Given the description of an element on the screen output the (x, y) to click on. 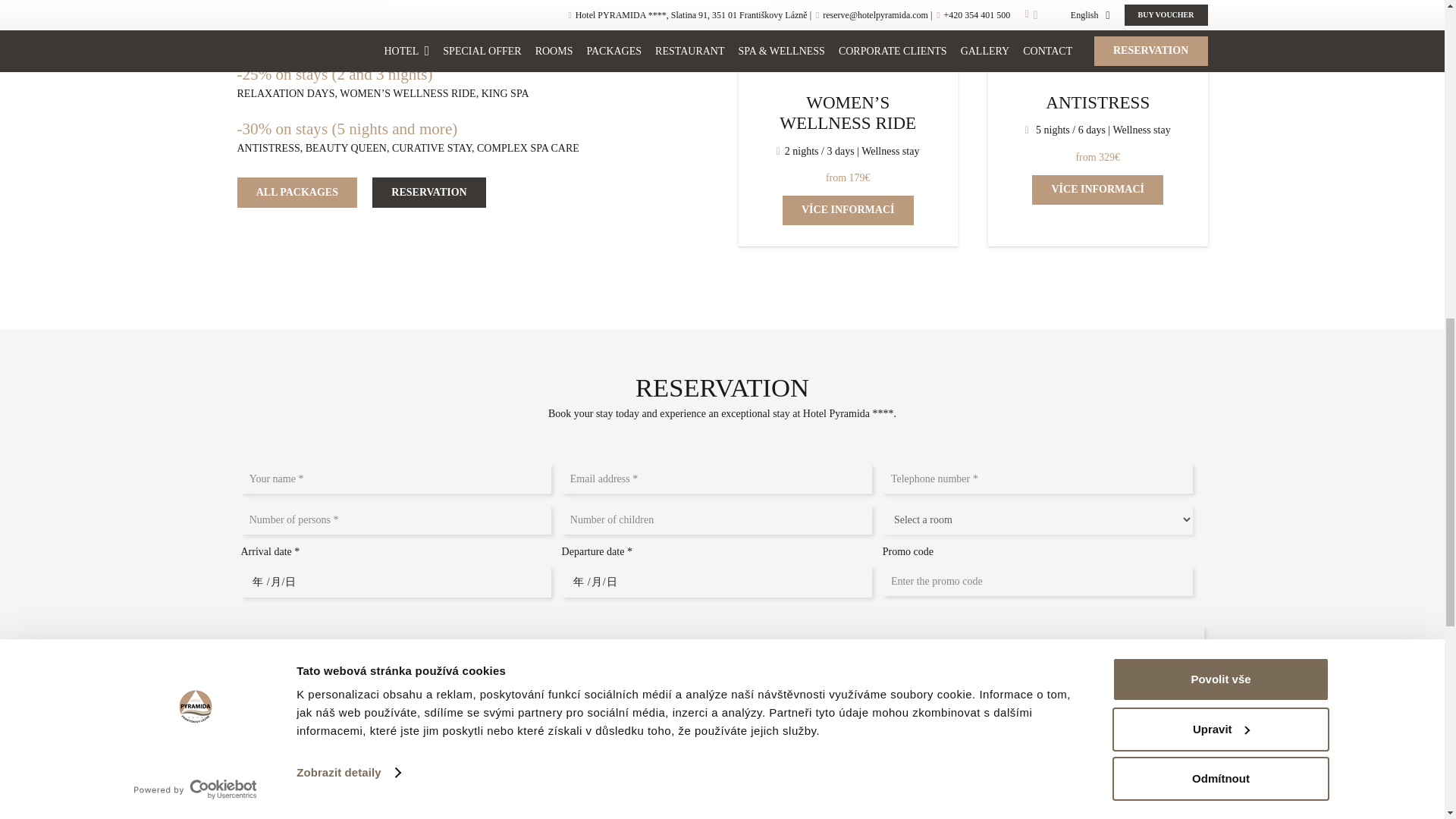
Send request (299, 781)
1 (241, 736)
Back to top (1413, 26)
